Given the description of an element on the screen output the (x, y) to click on. 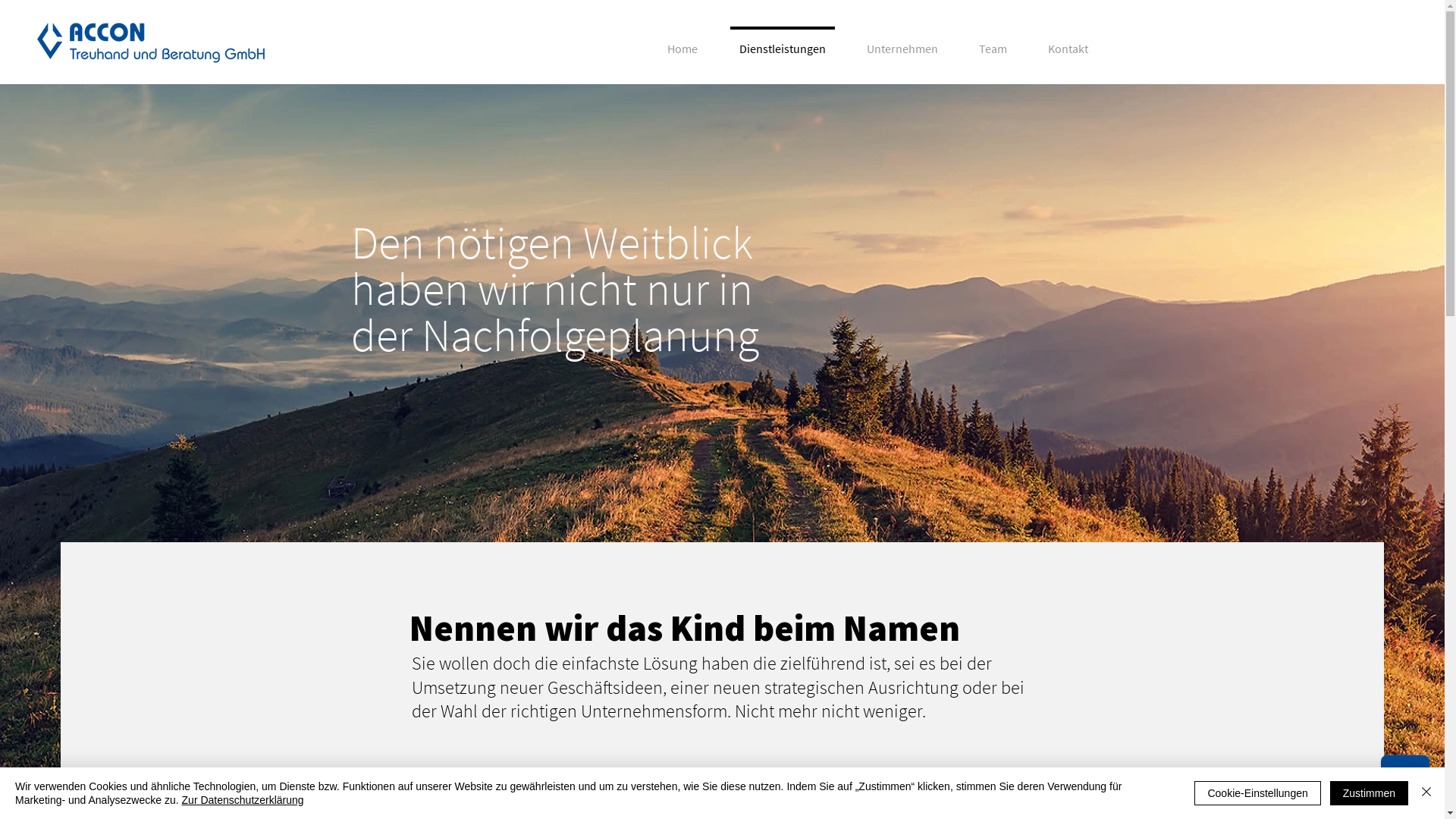
Dienstleistungen Element type: text (782, 41)
Zustimmen Element type: text (1369, 793)
Unternehmen Element type: text (902, 41)
Home Element type: text (682, 41)
logo_accon_treuhand_web.png Element type: hover (150, 42)
Team Element type: text (992, 41)
Cookie-Einstellungen Element type: text (1257, 793)
Kontakt Element type: text (1066, 41)
